Given the description of an element on the screen output the (x, y) to click on. 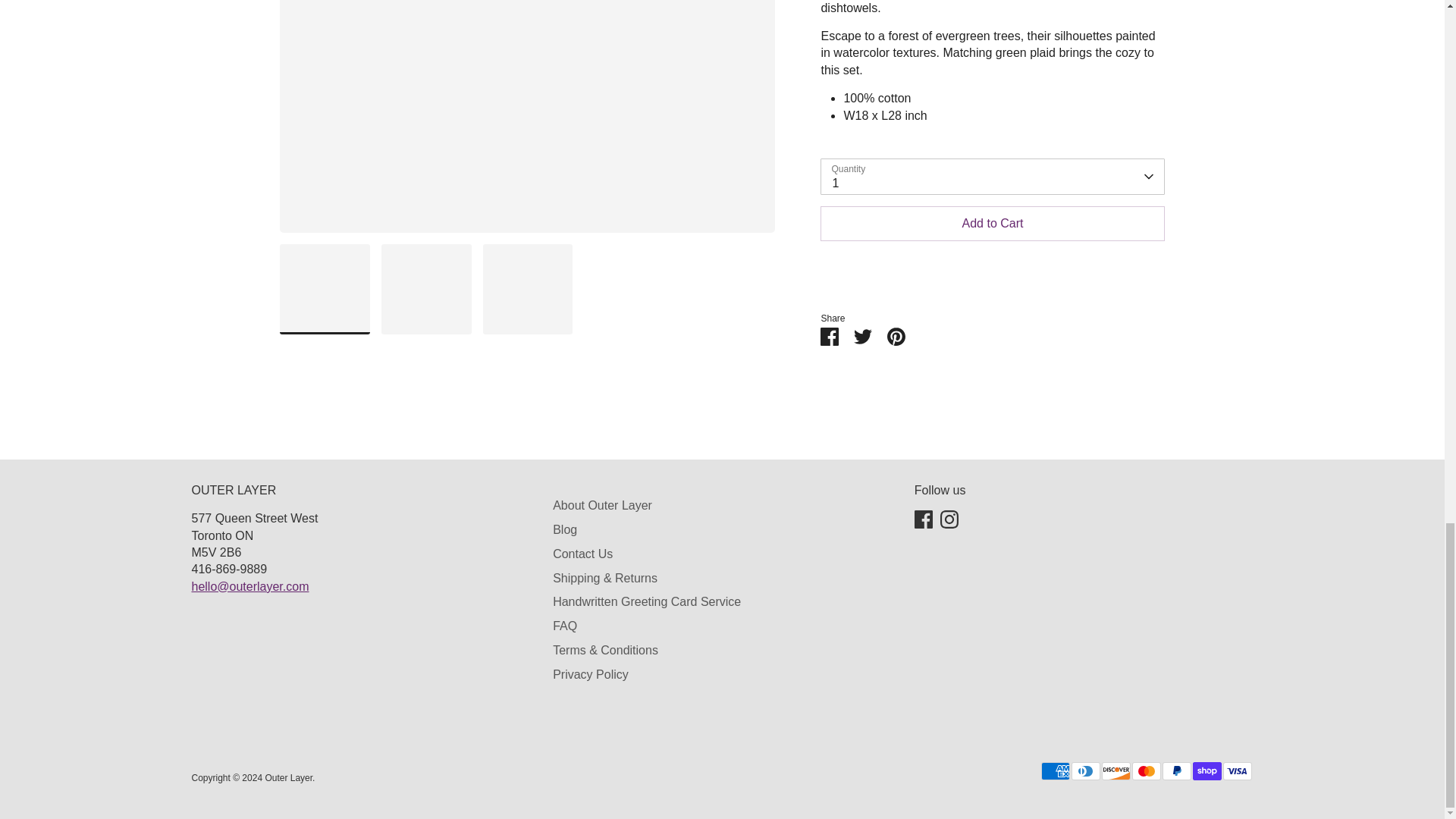
Diners Club (1084, 771)
Mastercard (1145, 771)
Discover (1114, 771)
American Express (1054, 771)
